Given the description of an element on the screen output the (x, y) to click on. 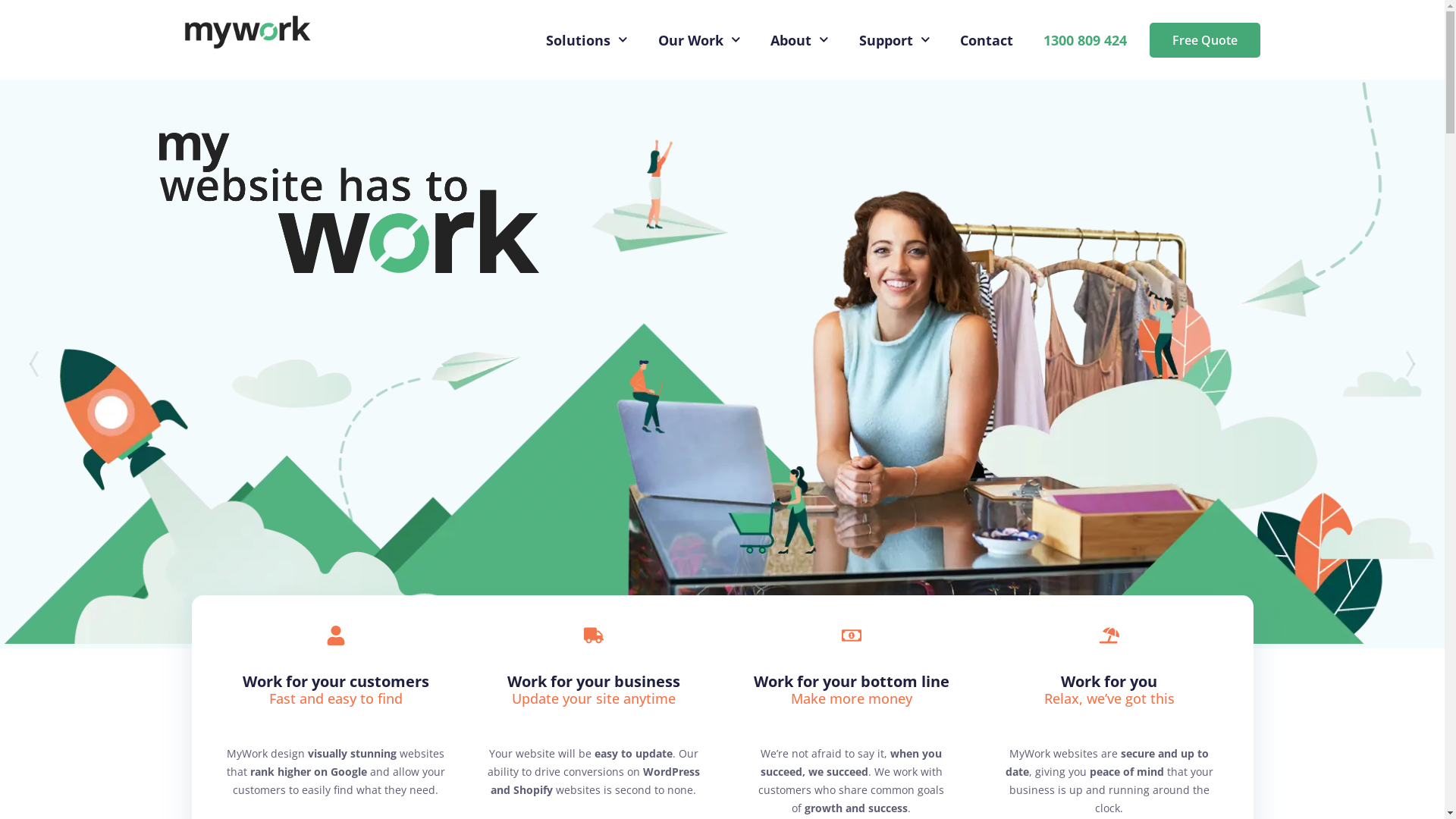
Solutions Element type: text (586, 39)
Support Element type: text (894, 39)
About Element type: text (799, 39)
Contact Element type: text (986, 39)
1300 809 424 Element type: text (1084, 39)
Our Work Element type: text (699, 39)
Free Quote Element type: text (1204, 39)
